Given the description of an element on the screen output the (x, y) to click on. 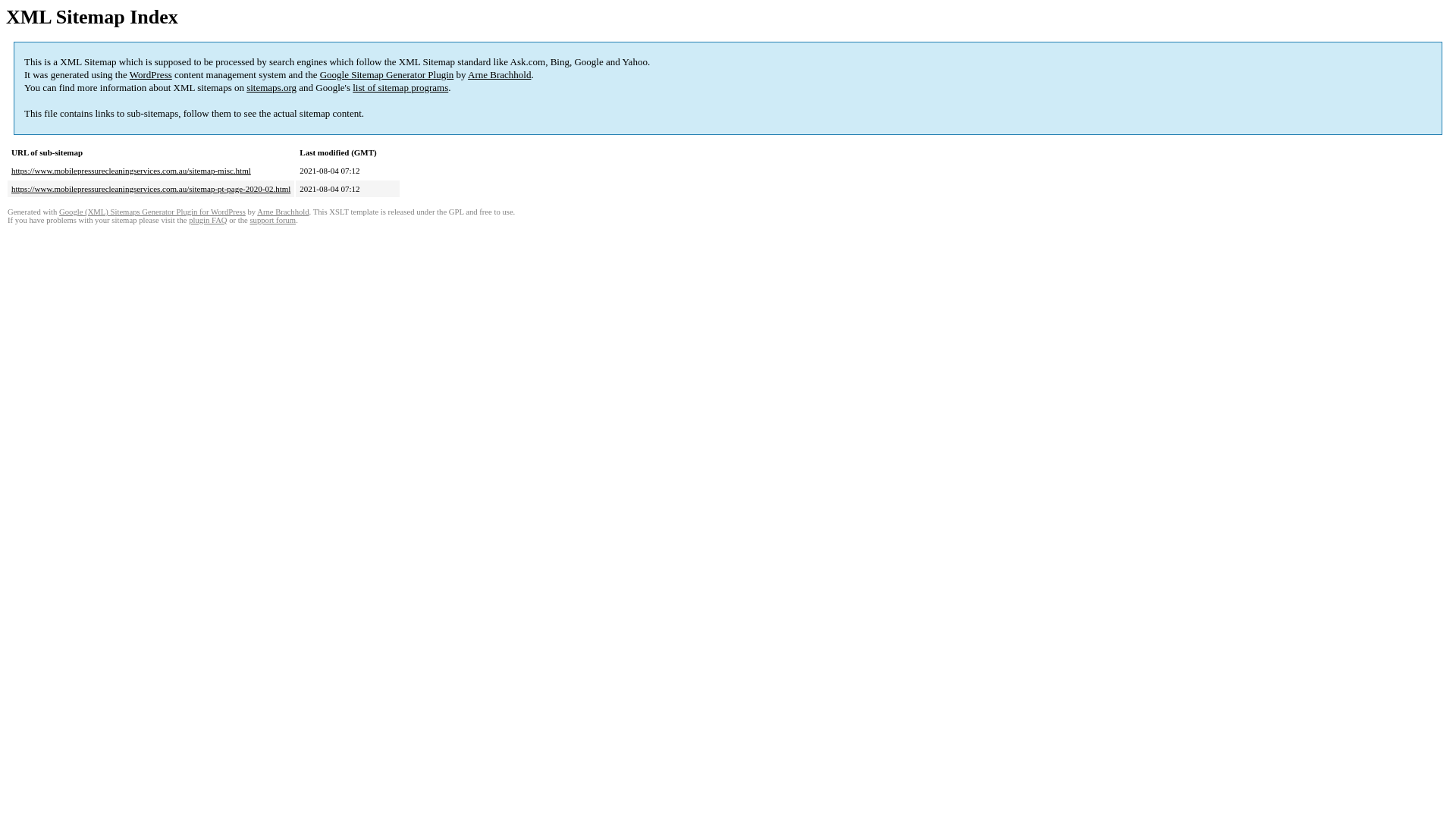
support forum Element type: text (272, 220)
Arne Brachhold Element type: text (282, 211)
WordPress Element type: text (150, 74)
plugin FAQ Element type: text (207, 220)
list of sitemap programs Element type: text (400, 87)
sitemaps.org Element type: text (271, 87)
Google (XML) Sitemaps Generator Plugin for WordPress Element type: text (152, 211)
Arne Brachhold Element type: text (498, 74)
Google Sitemap Generator Plugin Element type: text (387, 74)
